Given the description of an element on the screen output the (x, y) to click on. 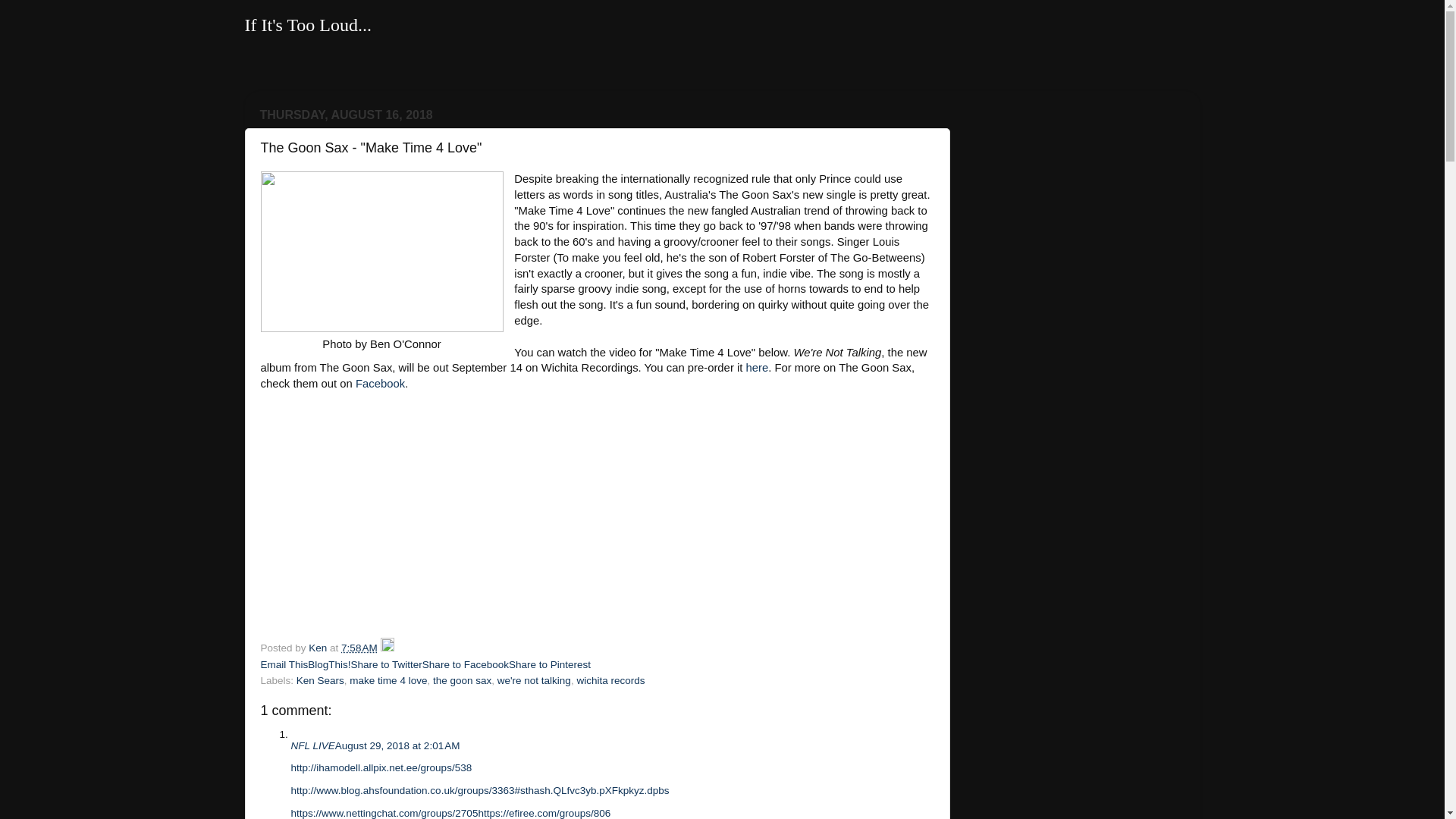
we're not talking (533, 680)
author profile (319, 647)
Share to Twitter (386, 664)
here (756, 367)
Share to Facebook (465, 664)
Share to Pinterest (549, 664)
permanent link (358, 647)
Edit Post (387, 647)
Email This (284, 664)
Facebook (379, 383)
Share to Facebook (465, 664)
wichita records (610, 680)
Email This (284, 664)
